Given the description of an element on the screen output the (x, y) to click on. 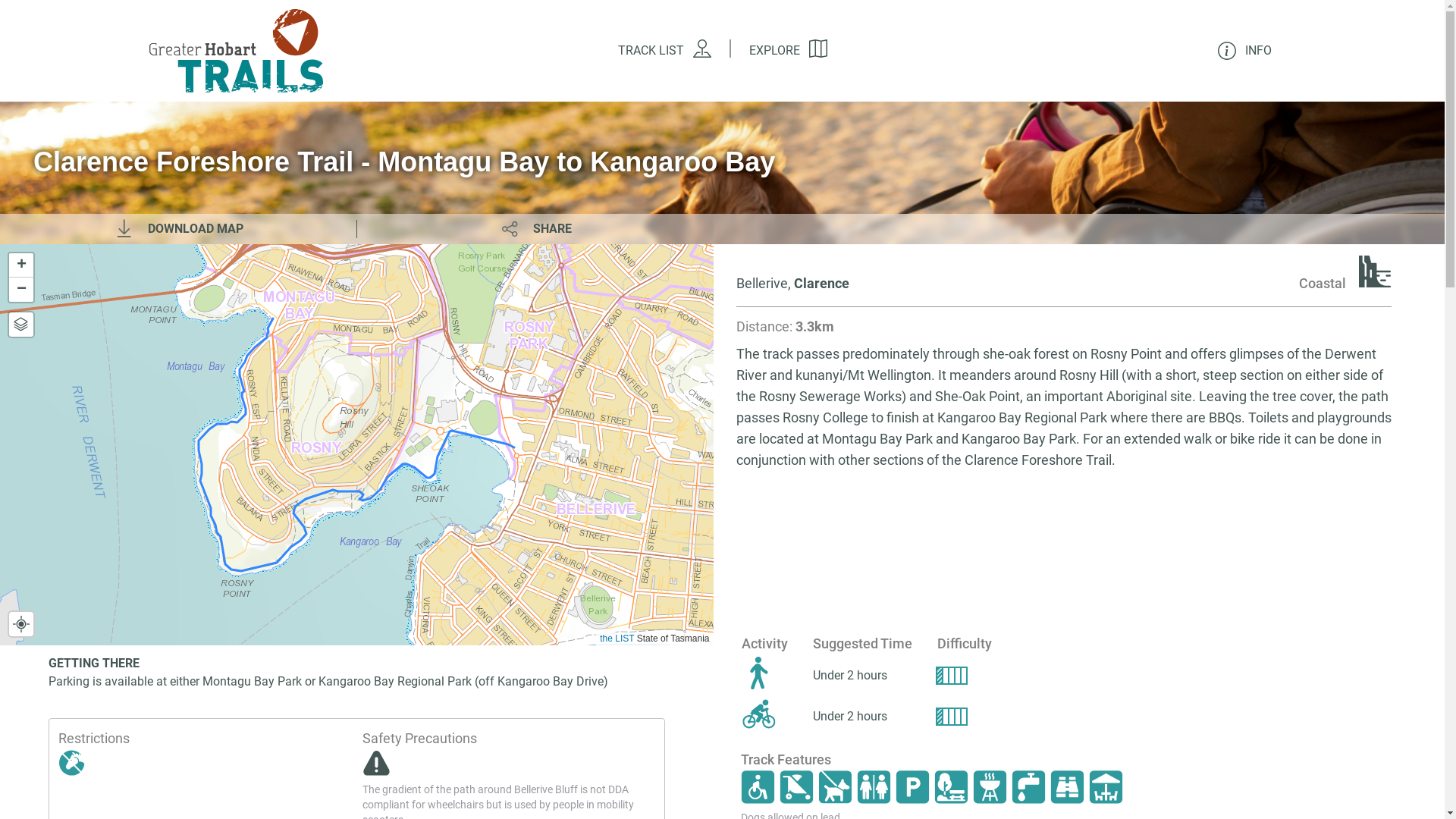
+ Element type: text (21, 265)
Locate Element type: text (20, 623)
the LIST Element type: text (616, 638)
INFO Element type: text (1238, 50)
Layers Element type: hover (21, 324)
EXPLORE Element type: text (788, 50)
TRACK LIST Element type: text (663, 50)
